Given the description of an element on the screen output the (x, y) to click on. 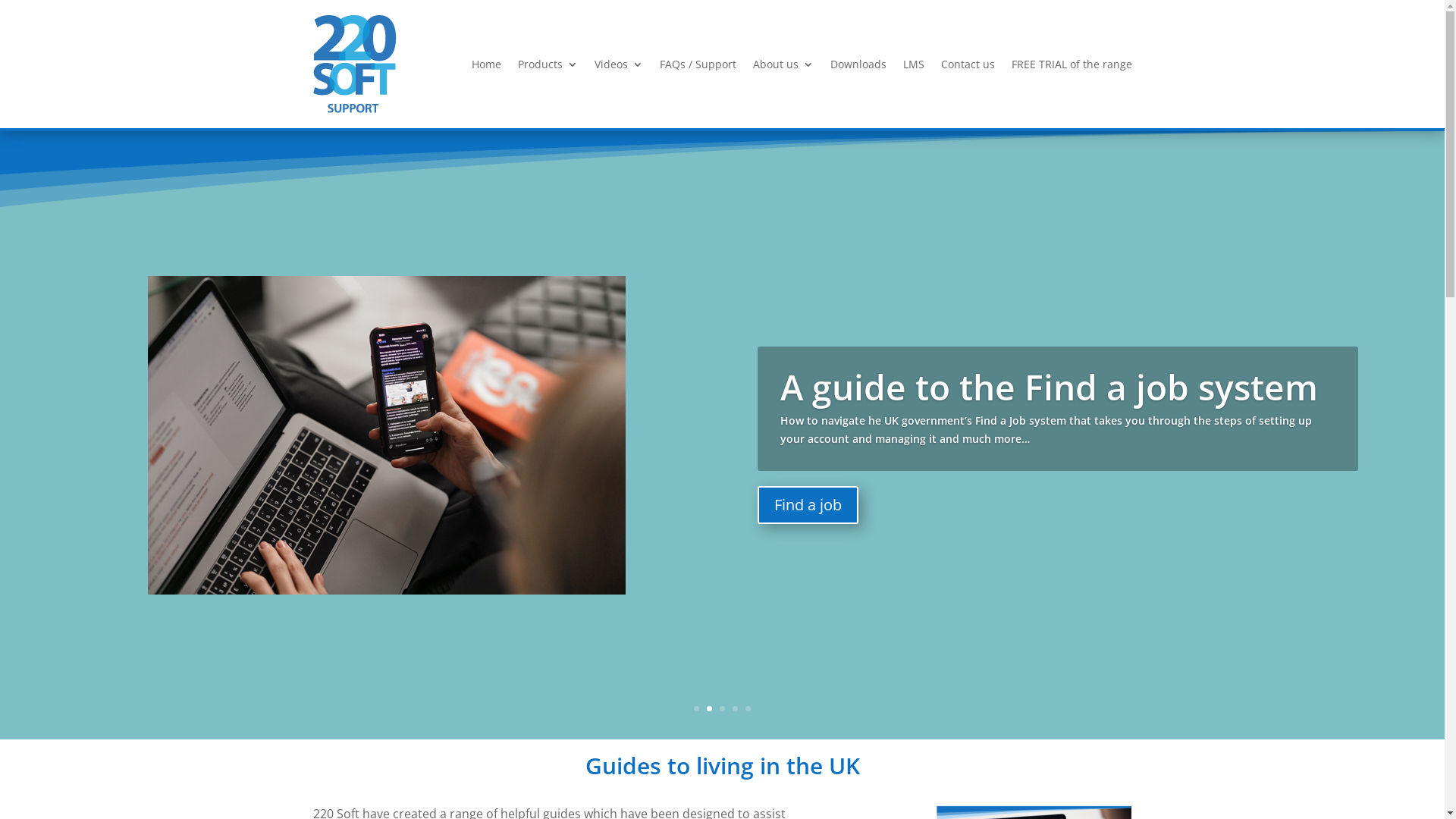
Contact us Element type: text (967, 63)
3 Element type: text (721, 708)
2 Element type: text (709, 708)
Products Element type: text (547, 63)
A guide to the Find a job system Element type: text (1048, 390)
1 Element type: text (696, 708)
Find a job Element type: text (807, 507)
LMS Element type: text (912, 63)
About us Element type: text (782, 63)
Downloads Element type: text (857, 63)
FAQs / Support Element type: text (697, 63)
Home Element type: text (486, 63)
FREE TRIAL of the range Element type: text (1071, 63)
5 Element type: text (747, 708)
4 Element type: text (734, 708)
Videos Element type: text (618, 63)
